Given the description of an element on the screen output the (x, y) to click on. 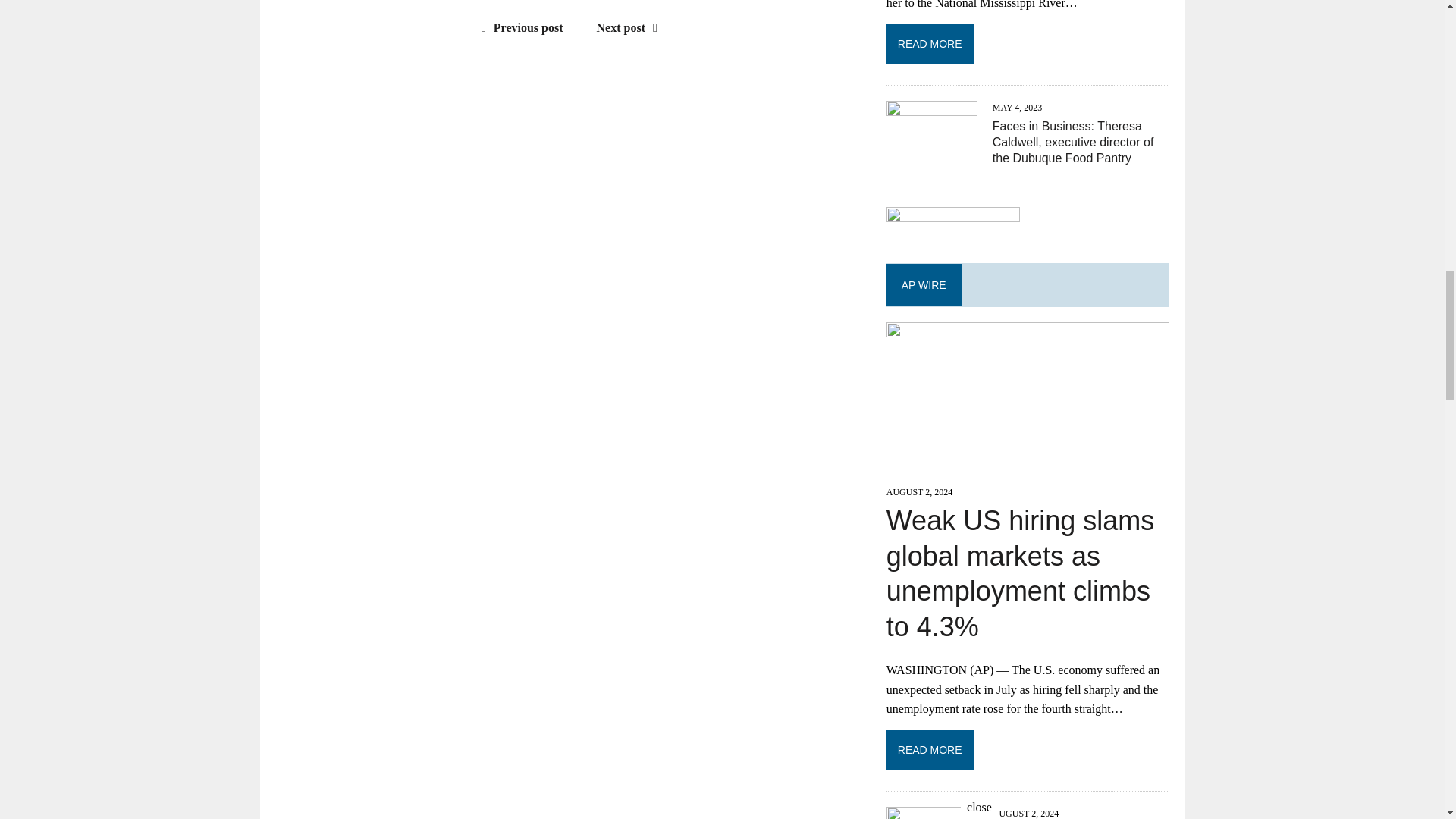
Previous post (518, 27)
Next post (630, 27)
